Given the description of an element on the screen output the (x, y) to click on. 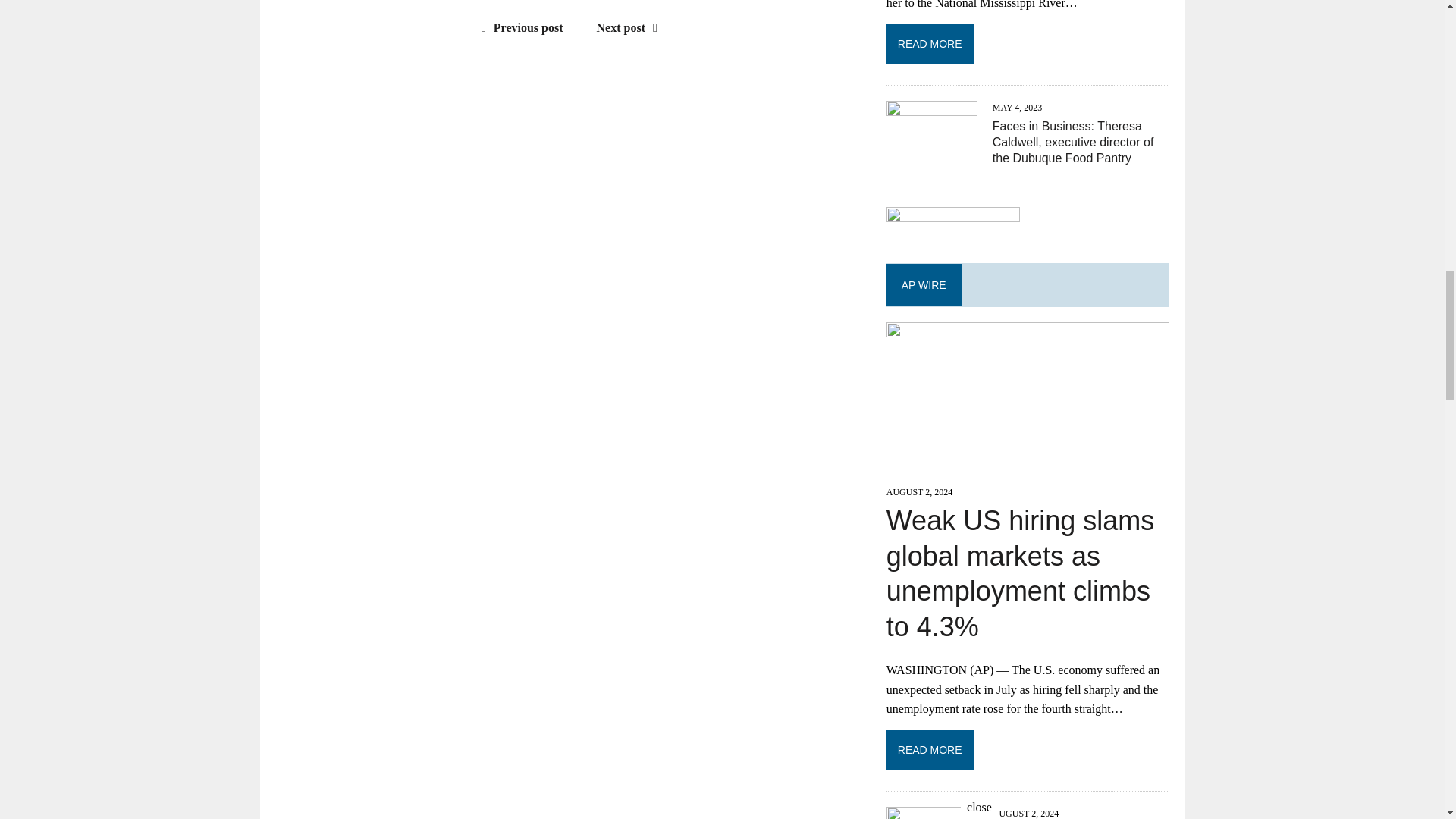
Previous post (518, 27)
Next post (630, 27)
